Given the description of an element on the screen output the (x, y) to click on. 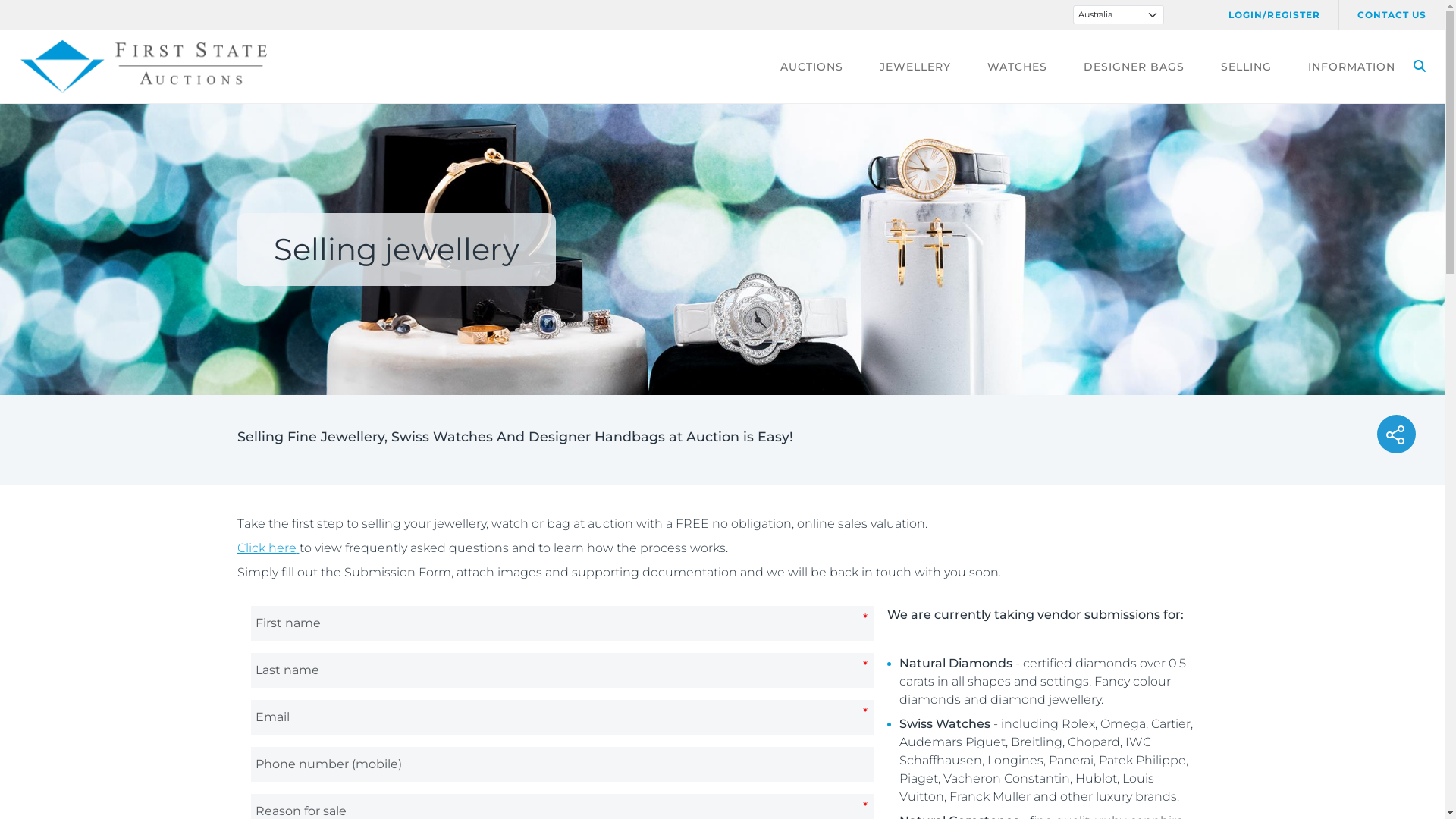
CONTACT US Element type: text (1391, 15)
Upload Element type: text (46, 20)
Social share Element type: text (1396, 433)
LOGIN/REGISTER Element type: text (1274, 15)
SEARCH Element type: text (1419, 66)
Click here Element type: text (265, 547)
DESIGNER BAGS Element type: text (1133, 66)
  Element type: text (296, 547)
